Given the description of an element on the screen output the (x, y) to click on. 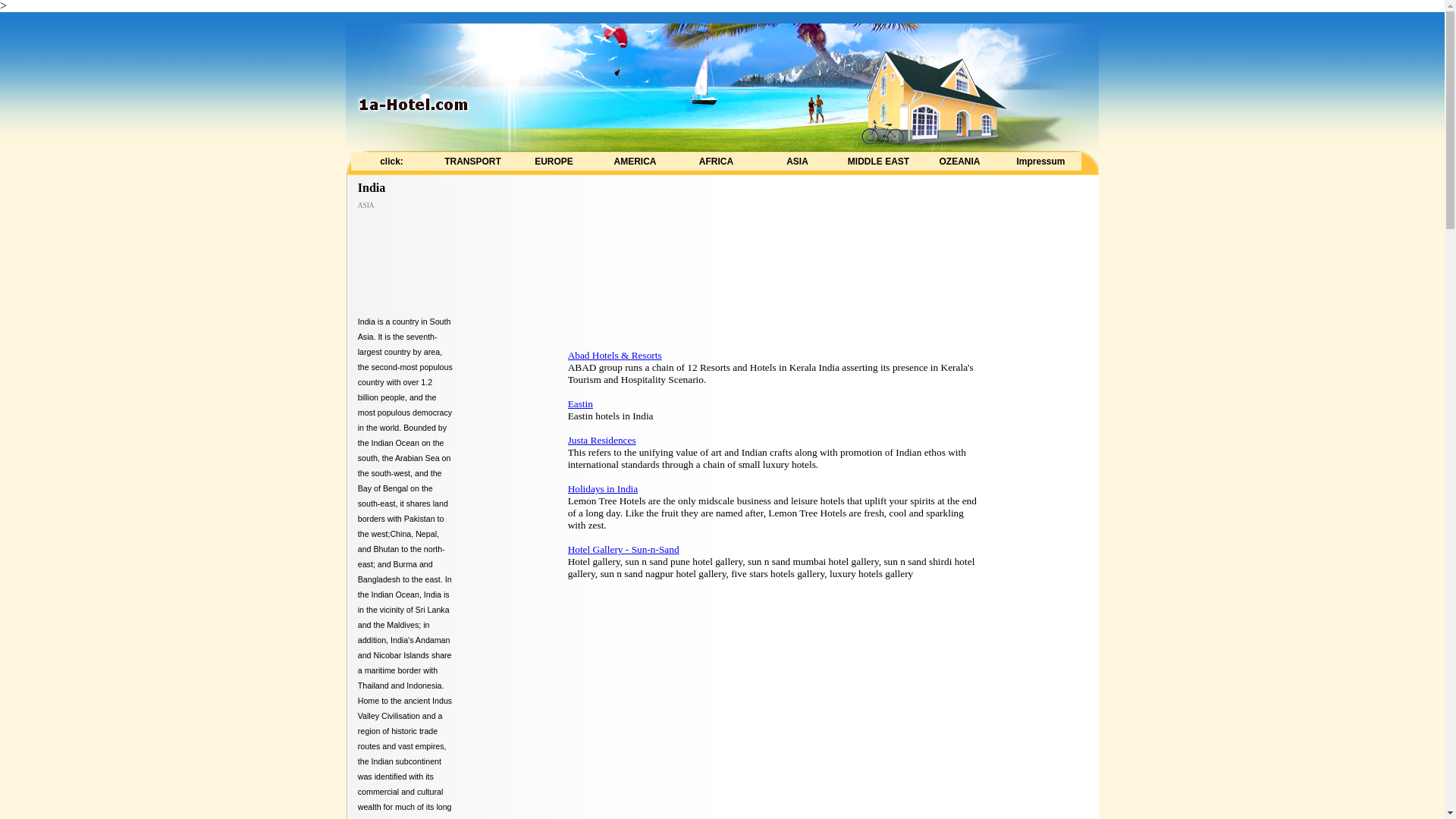
Advertisement Element type: hover (1033, 441)
Advertisement Element type: hover (669, 248)
Abad Hotels & Resorts Element type: text (614, 354)
Holidays in India Element type: text (602, 488)
Eastin Element type: text (580, 403)
click: Element type: text (391, 161)
Justa Residences Element type: text (601, 439)
Hotel Gallery - Sun-n-Sand Element type: text (623, 549)
